Given the description of an element on the screen output the (x, y) to click on. 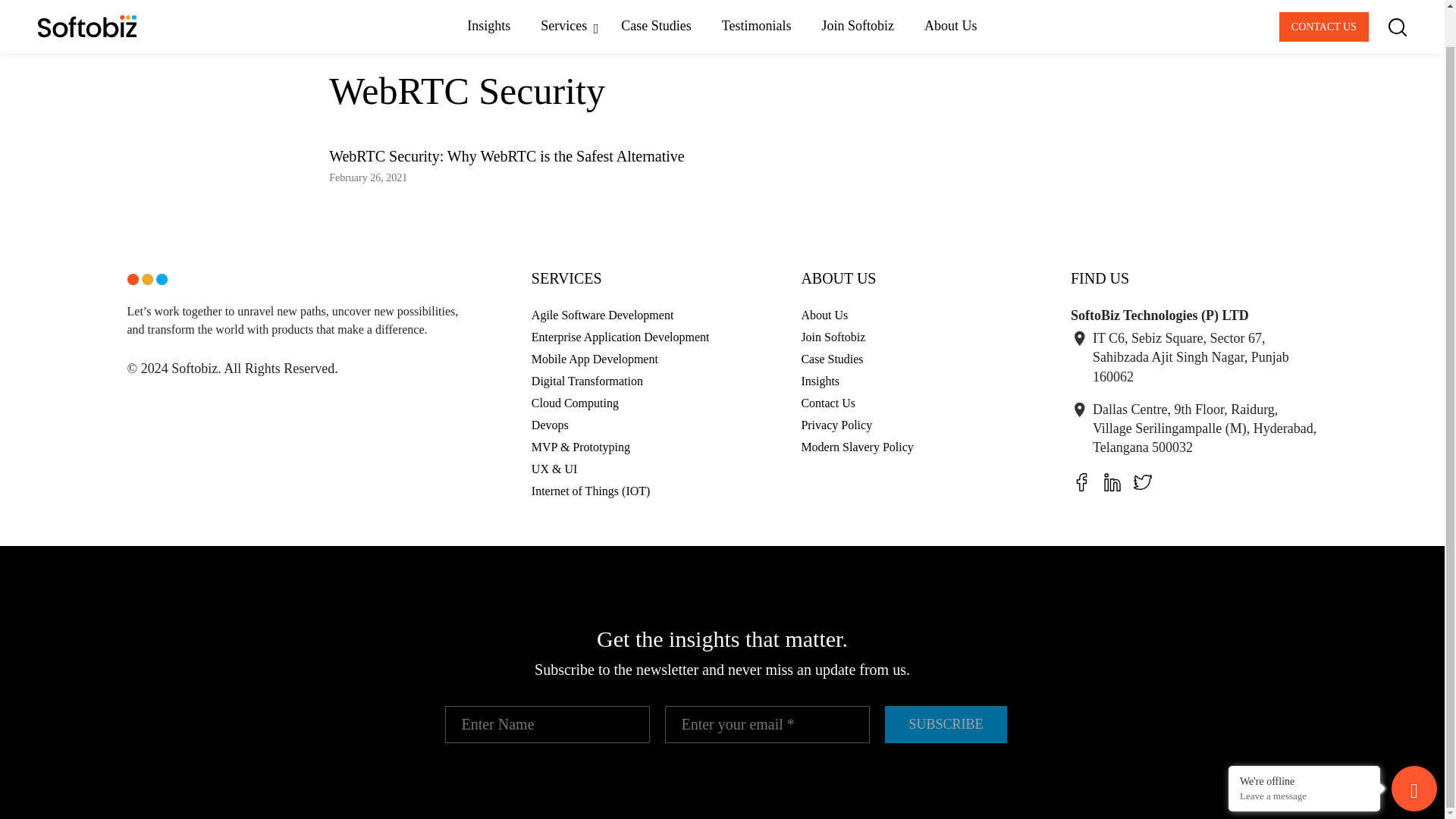
Cloud Computing (574, 402)
Mobile App Development (594, 358)
About Us (823, 314)
Subscribe (945, 723)
Devops (550, 424)
Enterprise Application Development (620, 336)
CONTACT US (1323, 1)
Join Softobiz (832, 336)
Insights (820, 380)
Case Studies (655, 3)
Softobiz Technologies India (187, 33)
WebRTC Security: Why WebRTC is the Safest Alternative (506, 156)
Insights (488, 3)
Case Studies (831, 358)
Agile Software Development (602, 314)
